Given the description of an element on the screen output the (x, y) to click on. 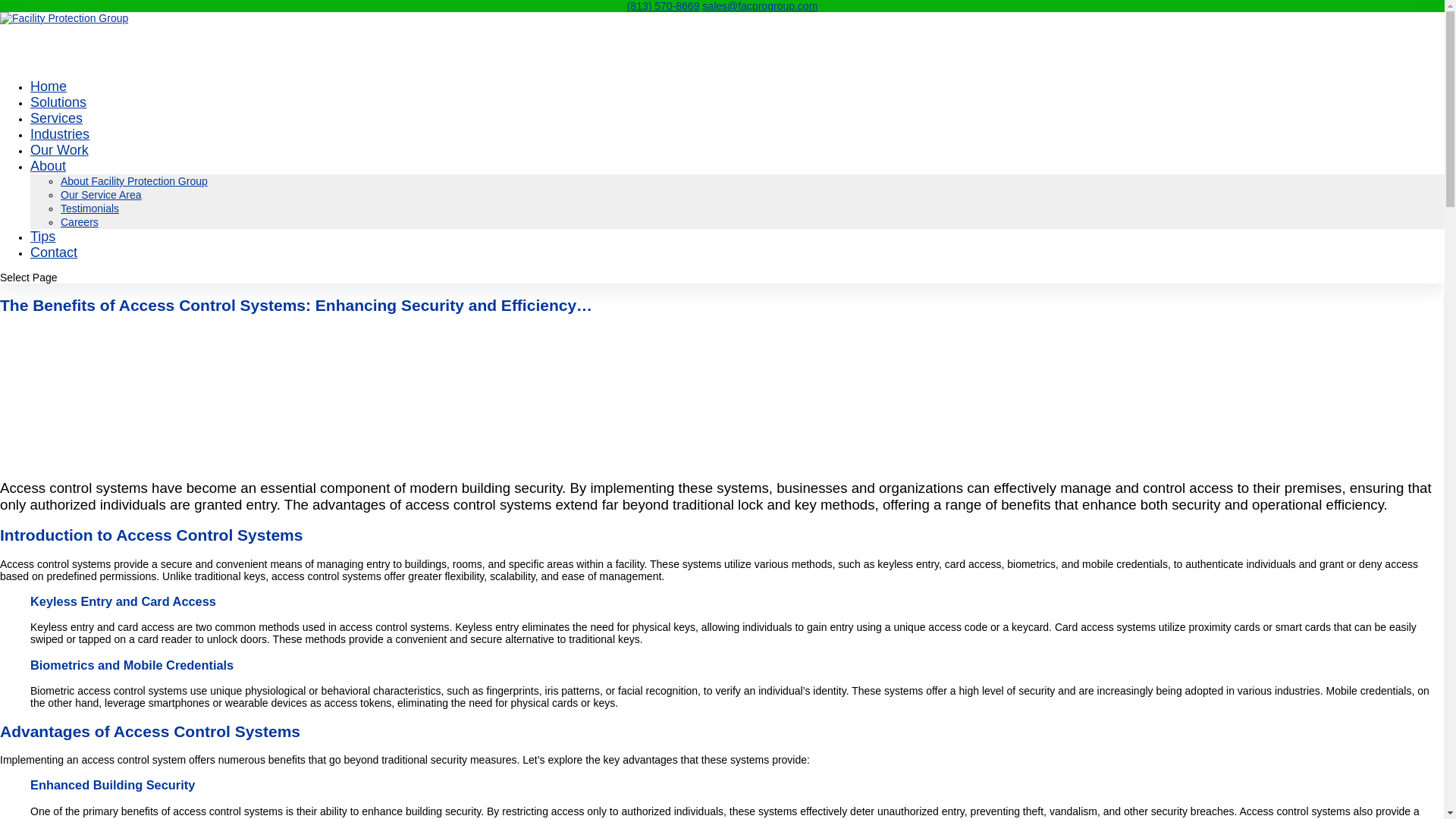
Industries (59, 148)
Contact (53, 266)
Careers (80, 222)
Solutions (57, 116)
About Facility Protection Group (134, 181)
Services (56, 132)
Our Service Area (101, 194)
Testimonials (90, 208)
Our Work (59, 164)
